Given the description of an element on the screen output the (x, y) to click on. 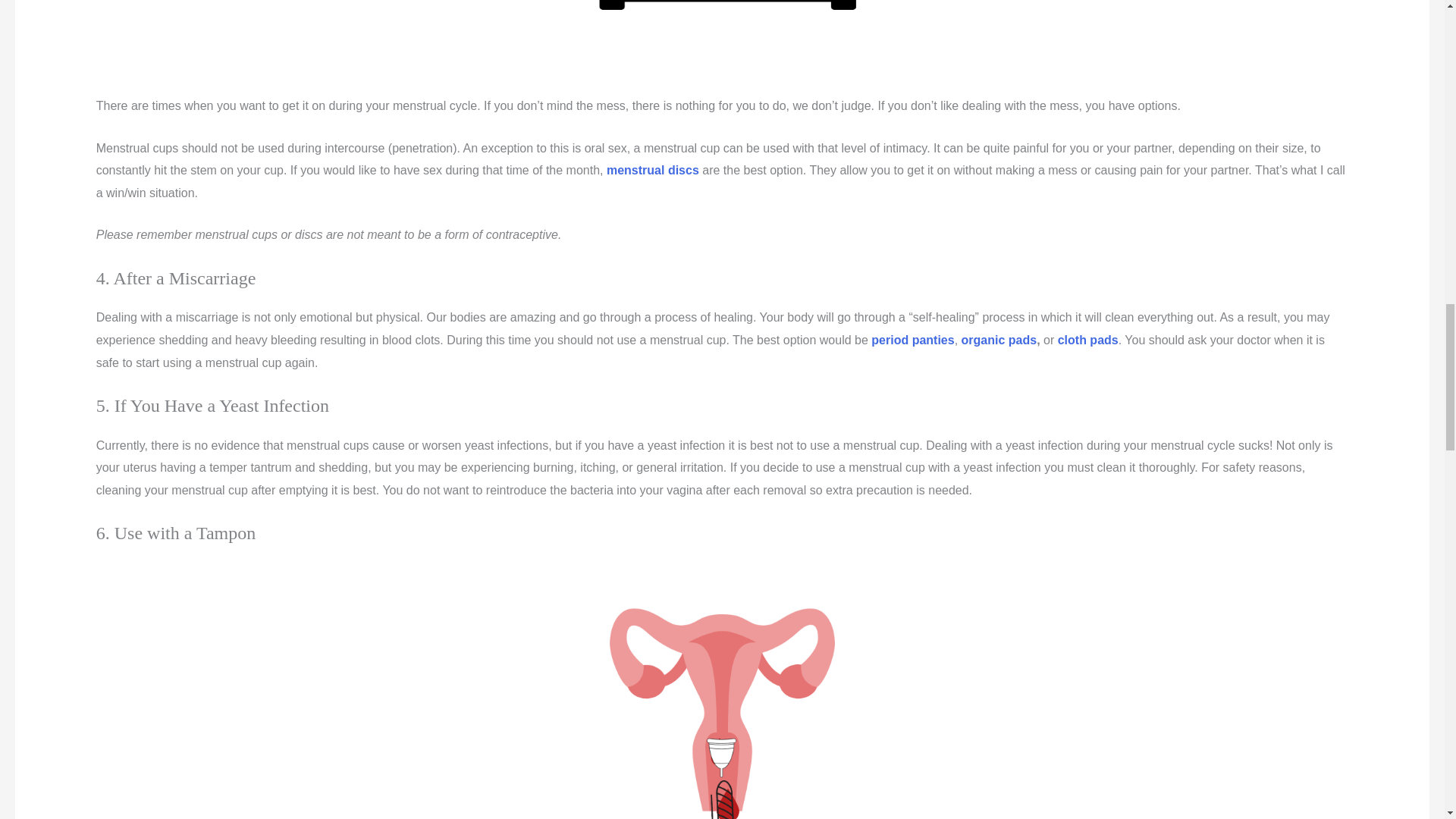
period panties (911, 339)
cloth pads (1088, 339)
menstrual discs (652, 169)
organic pads (998, 339)
